Given the description of an element on the screen output the (x, y) to click on. 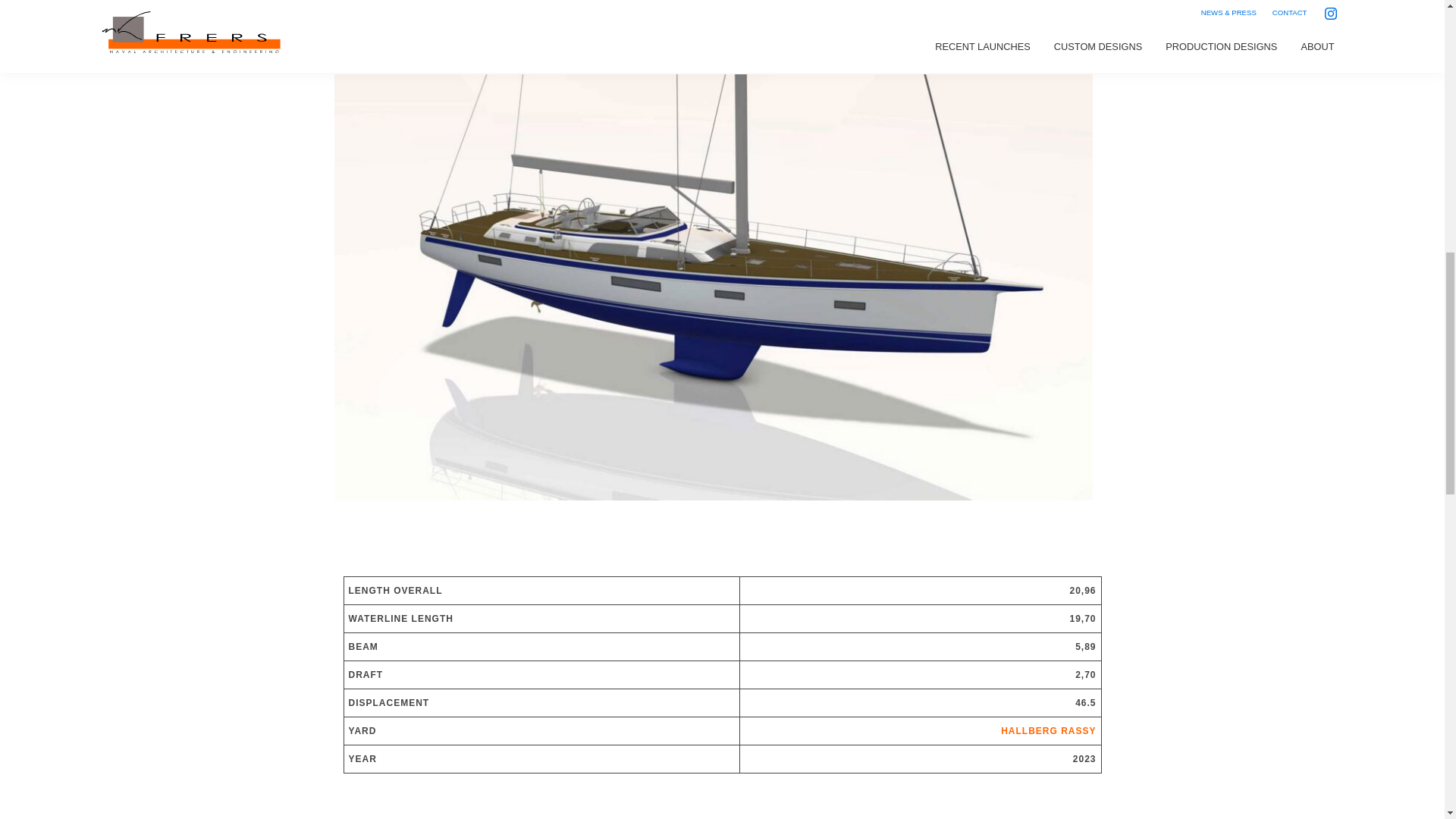
HALLBERG RASSY (1048, 730)
